Given the description of an element on the screen output the (x, y) to click on. 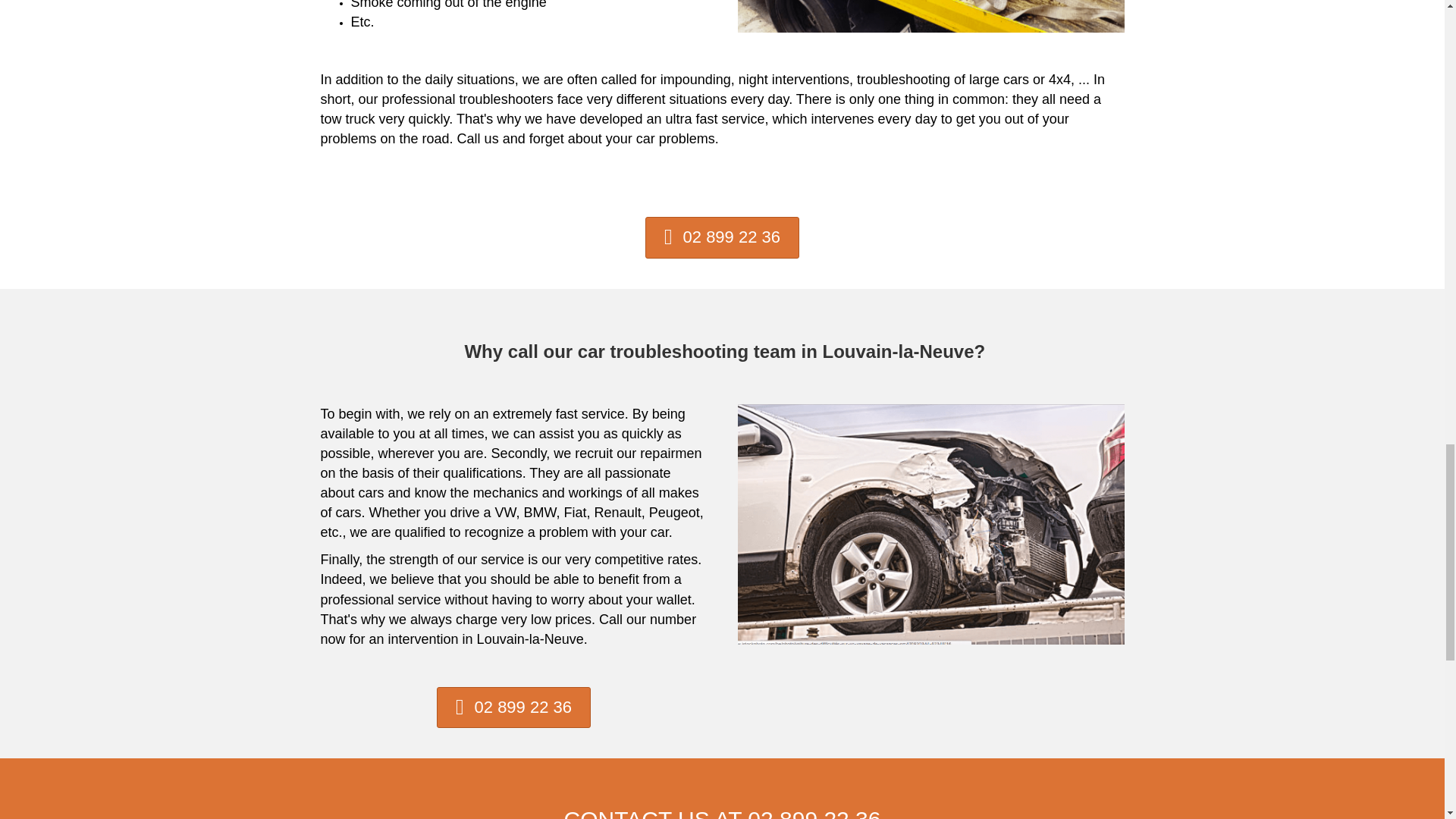
Depannage vehicule Bruxelles (930, 16)
Depannage accident Bruxelles (930, 524)
02 899 22 36 (722, 237)
02 899 22 36 (513, 707)
